Given the description of an element on the screen output the (x, y) to click on. 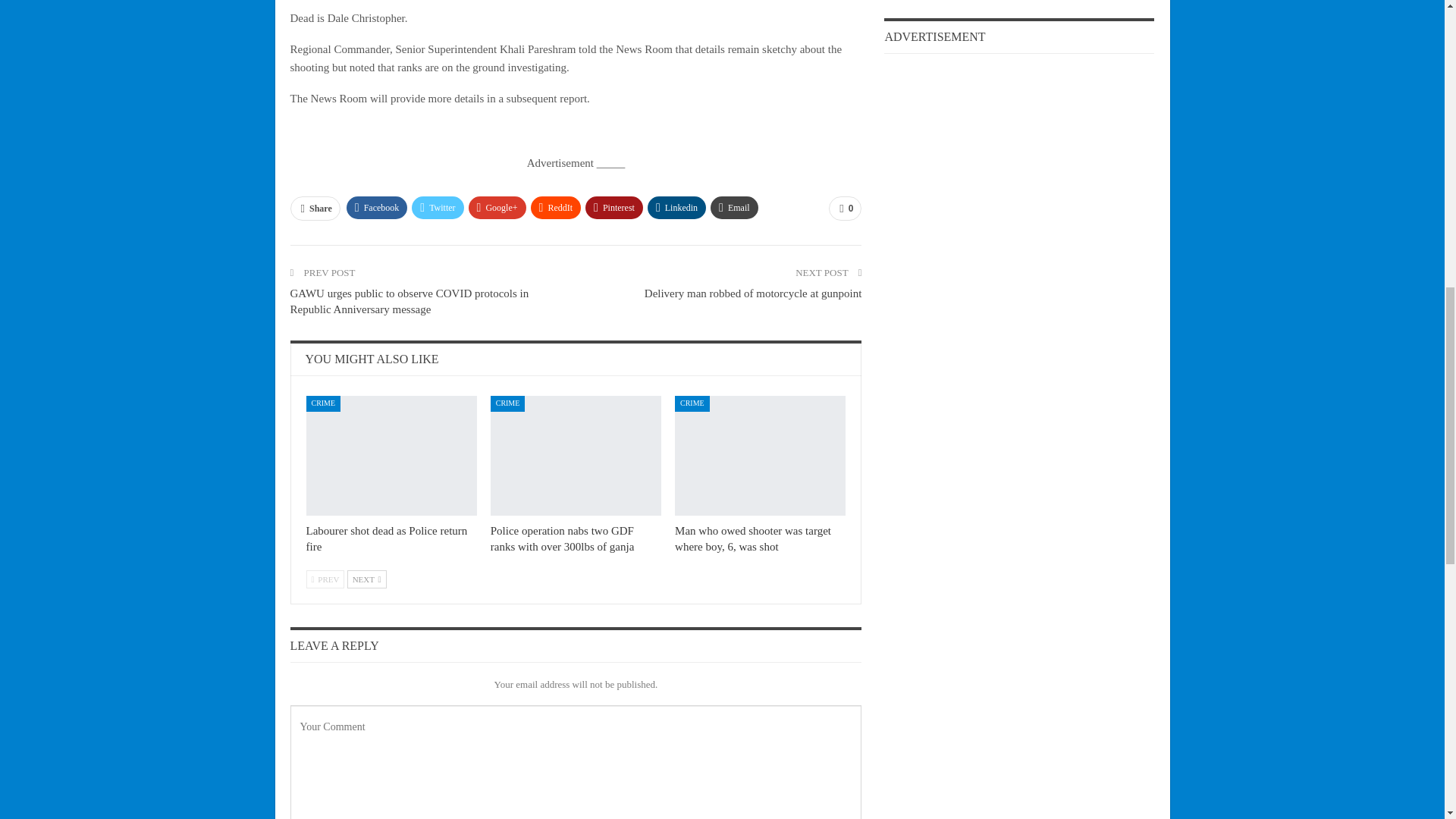
Man who owed shooter was target where boy, 6, was shot (753, 538)
Man who owed shooter was target where boy, 6, was shot (760, 455)
